Given the description of an element on the screen output the (x, y) to click on. 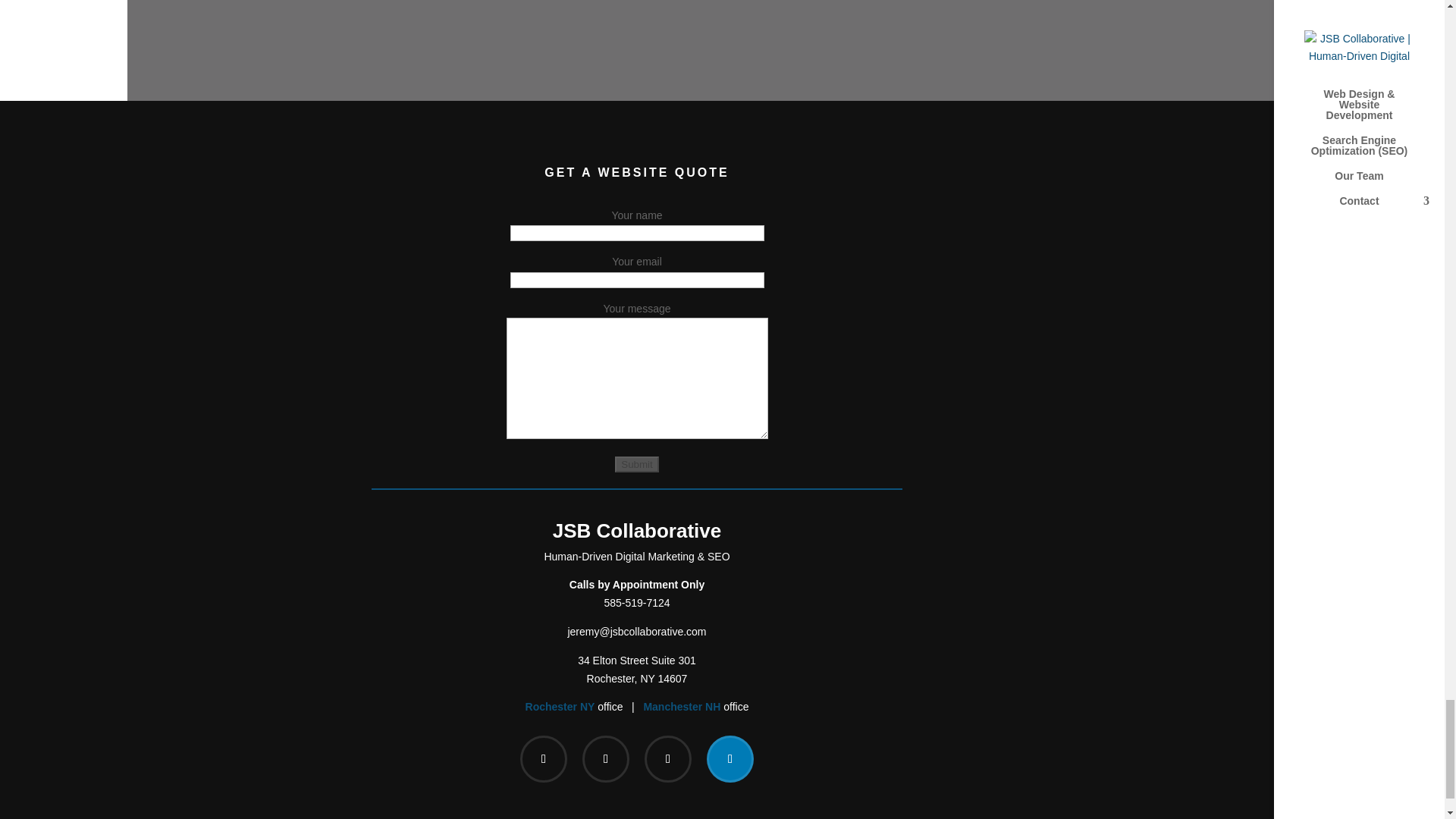
585-519-7124 (636, 669)
JSB Collaborative (636, 603)
Manchester NH (637, 530)
Rochester NY (681, 706)
Submit (560, 706)
Submit (636, 464)
